Given the description of an element on the screen output the (x, y) to click on. 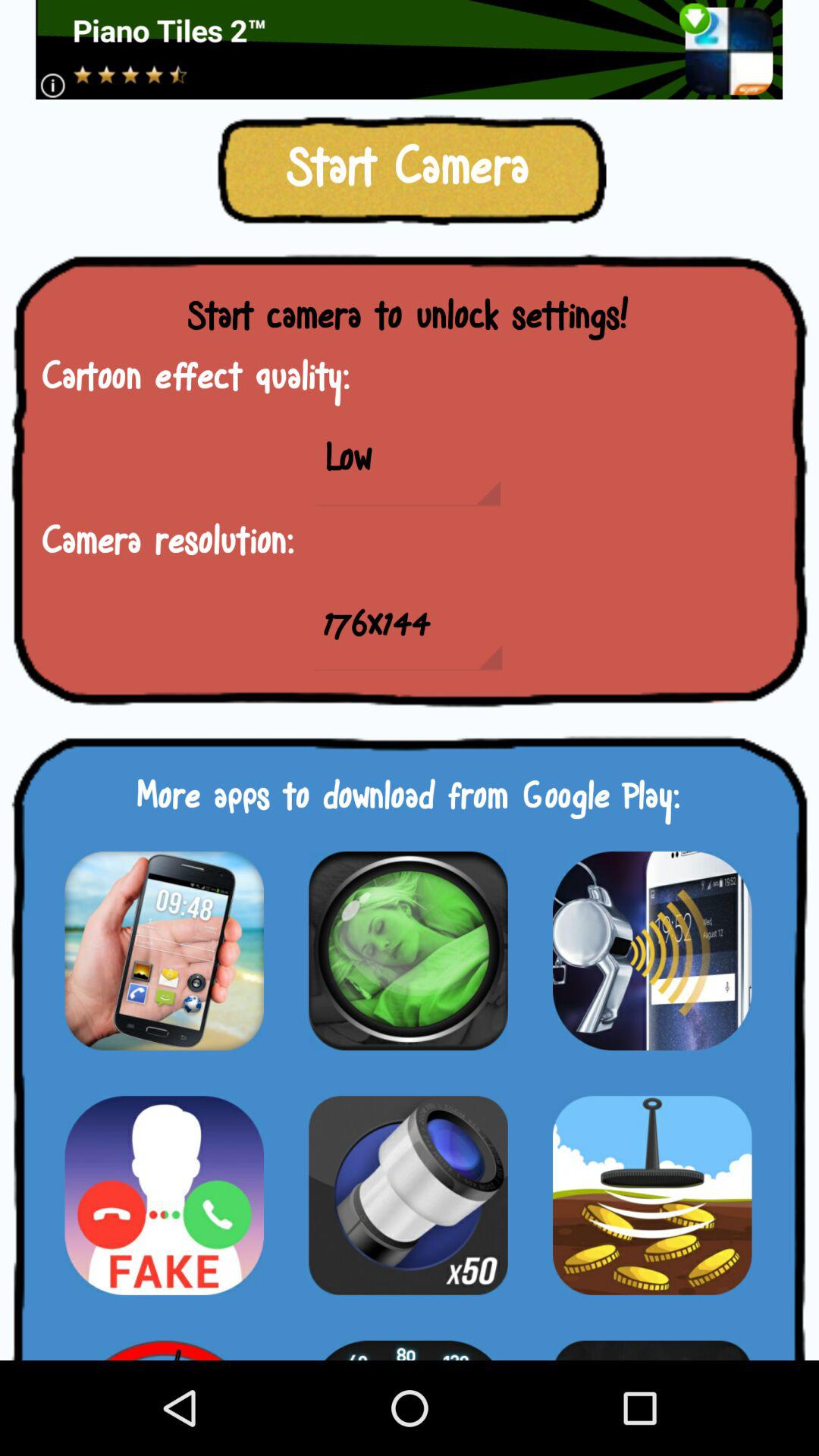
app options (164, 950)
